Given the description of an element on the screen output the (x, y) to click on. 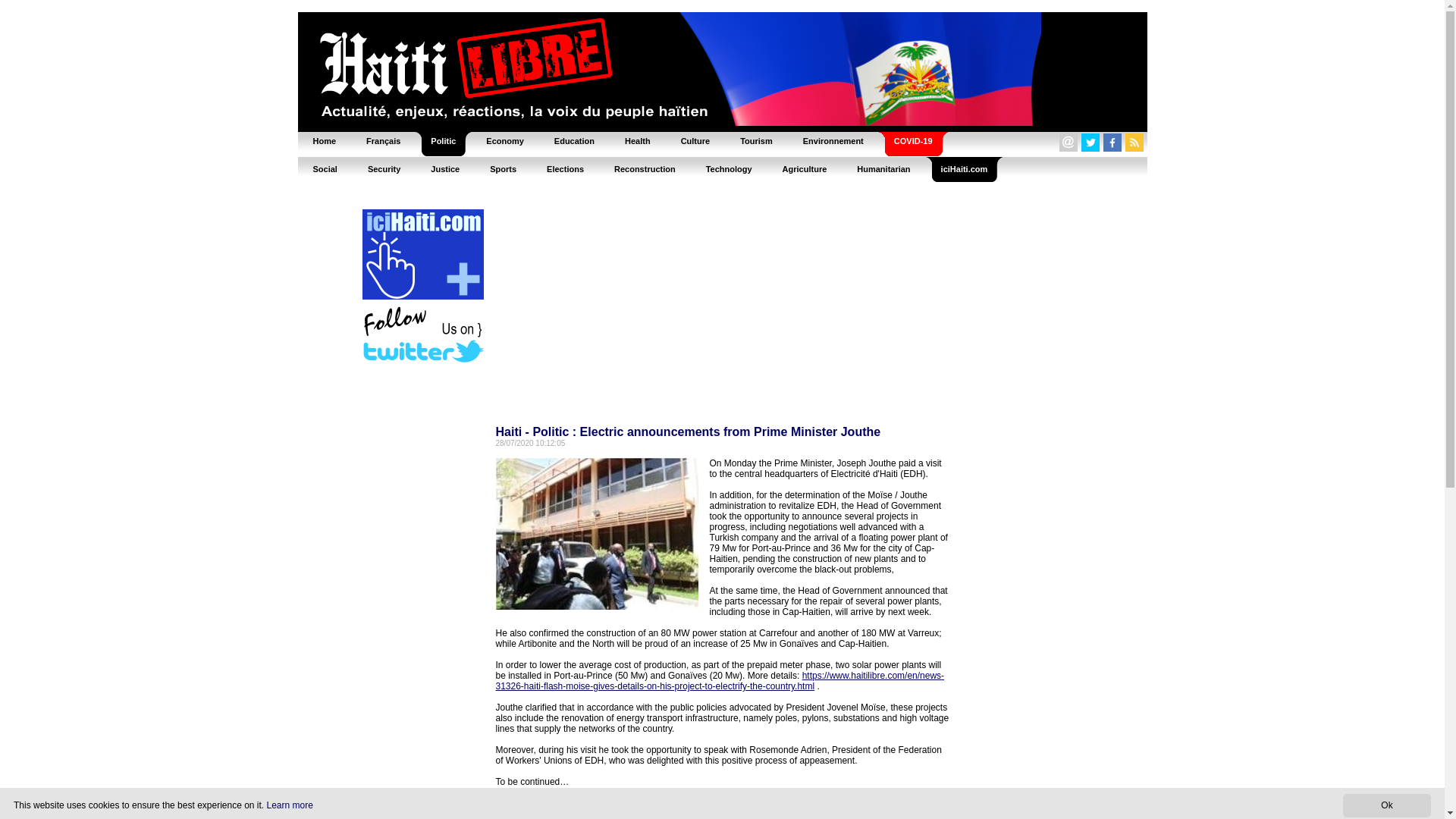
Sports (502, 168)
Politic (442, 141)
Culture (695, 141)
Social (324, 168)
Education (574, 141)
Environnement (833, 141)
Sports (502, 168)
Security (383, 168)
Home (323, 141)
Education (574, 141)
Home (323, 141)
iciHaiti.com (964, 168)
Justice (444, 168)
Elections (564, 168)
Elections (564, 168)
